Given the description of an element on the screen output the (x, y) to click on. 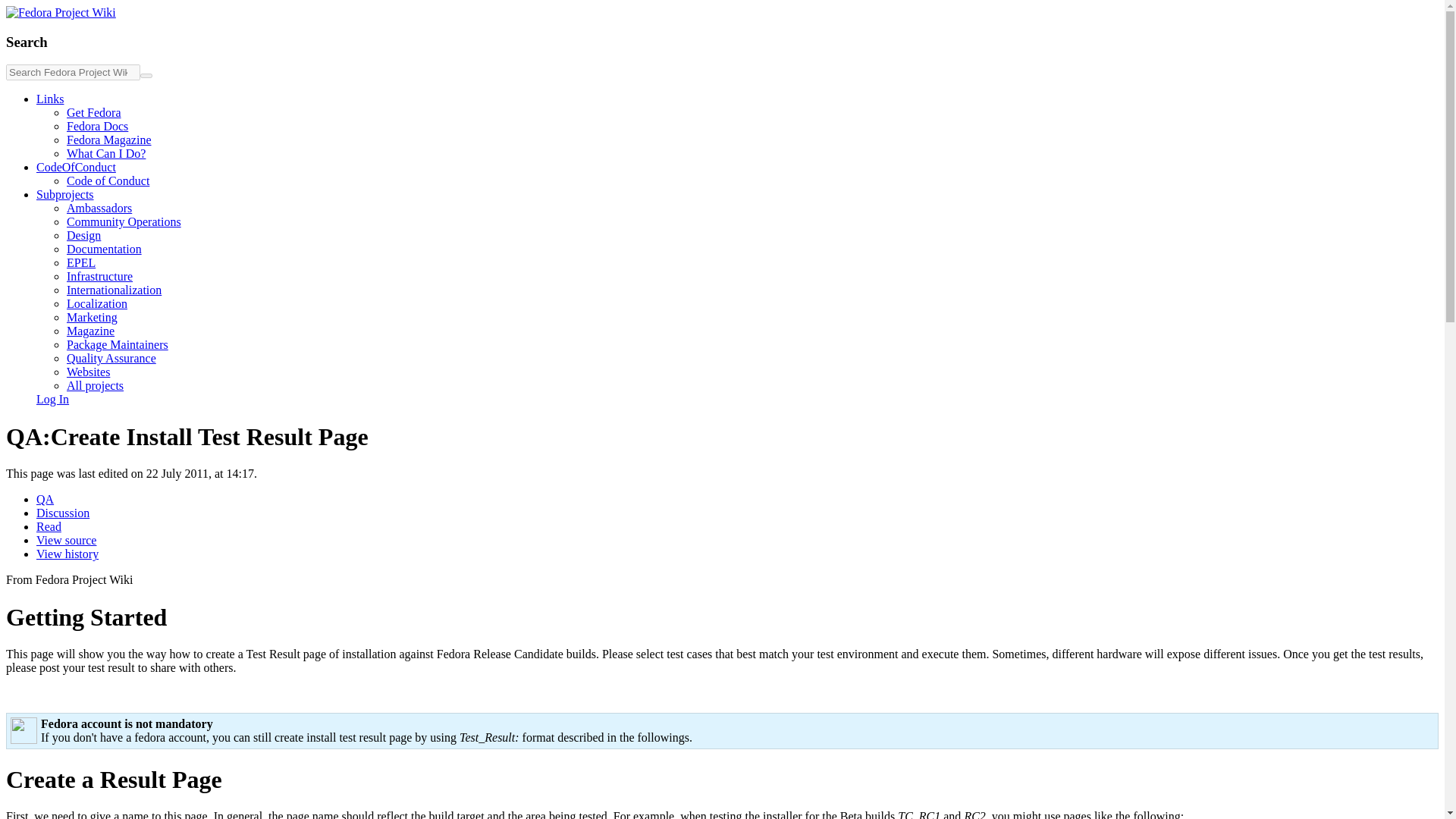
Internationalization (113, 289)
Package Maintainers (117, 344)
Community Operations (123, 221)
Subprojects (65, 194)
Read (48, 526)
Localization (97, 303)
Log In (52, 399)
Websites (88, 371)
Ambassadors (99, 207)
Fedora Magazine (108, 139)
Marketing (91, 317)
What Can I Do? (105, 153)
Infrastructure (99, 276)
Discussion (62, 512)
Fedora Docs (97, 125)
